Given the description of an element on the screen output the (x, y) to click on. 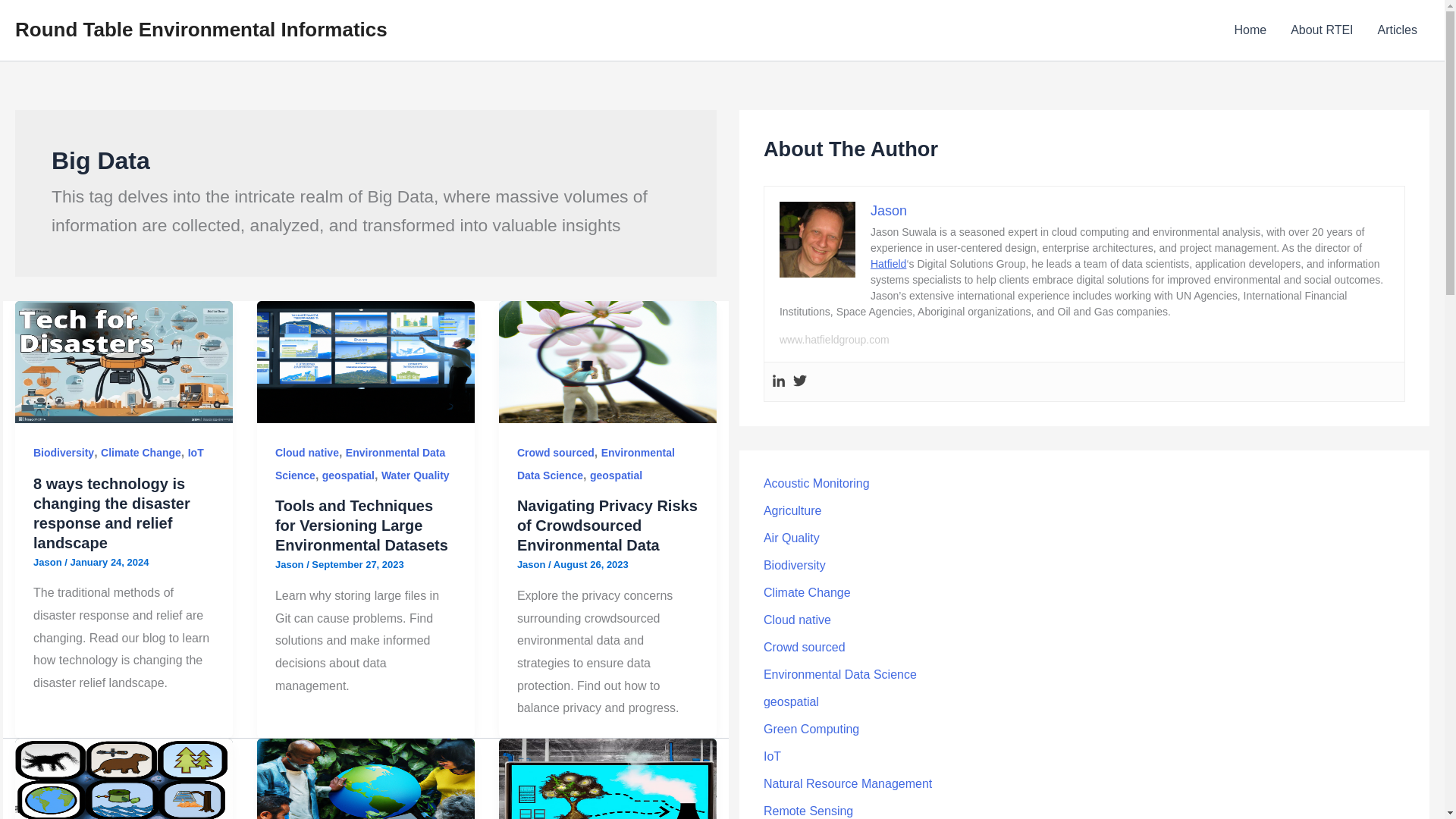
Home (1249, 30)
geospatial (347, 475)
View all posts by Jason (532, 564)
View all posts by Jason (290, 564)
Jason (532, 564)
Jason (290, 564)
View all posts by Jason (48, 562)
Crowd sourced (555, 452)
Jason (48, 562)
